Given the description of an element on the screen output the (x, y) to click on. 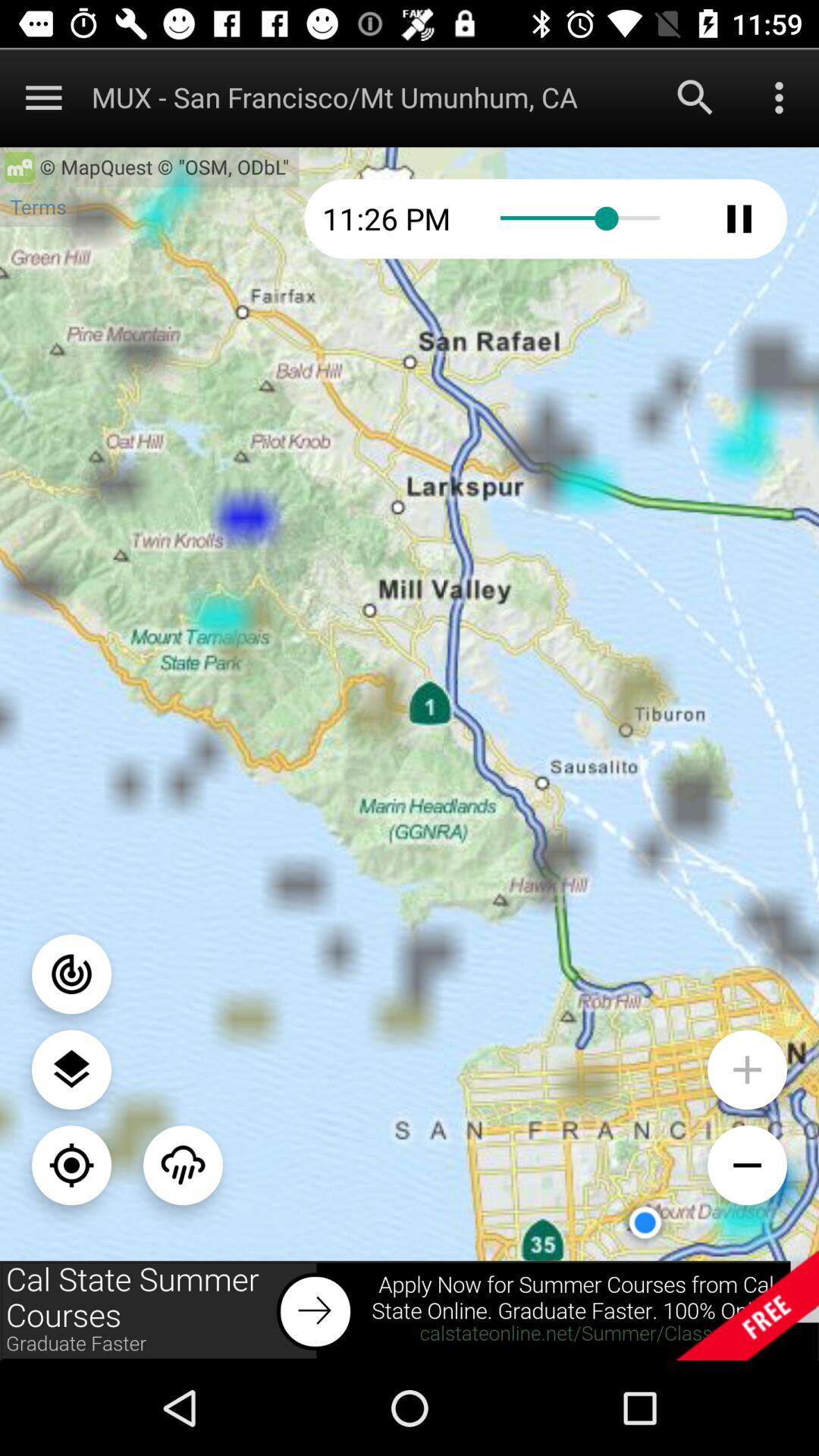
show more options (43, 97)
